Given the description of an element on the screen output the (x, y) to click on. 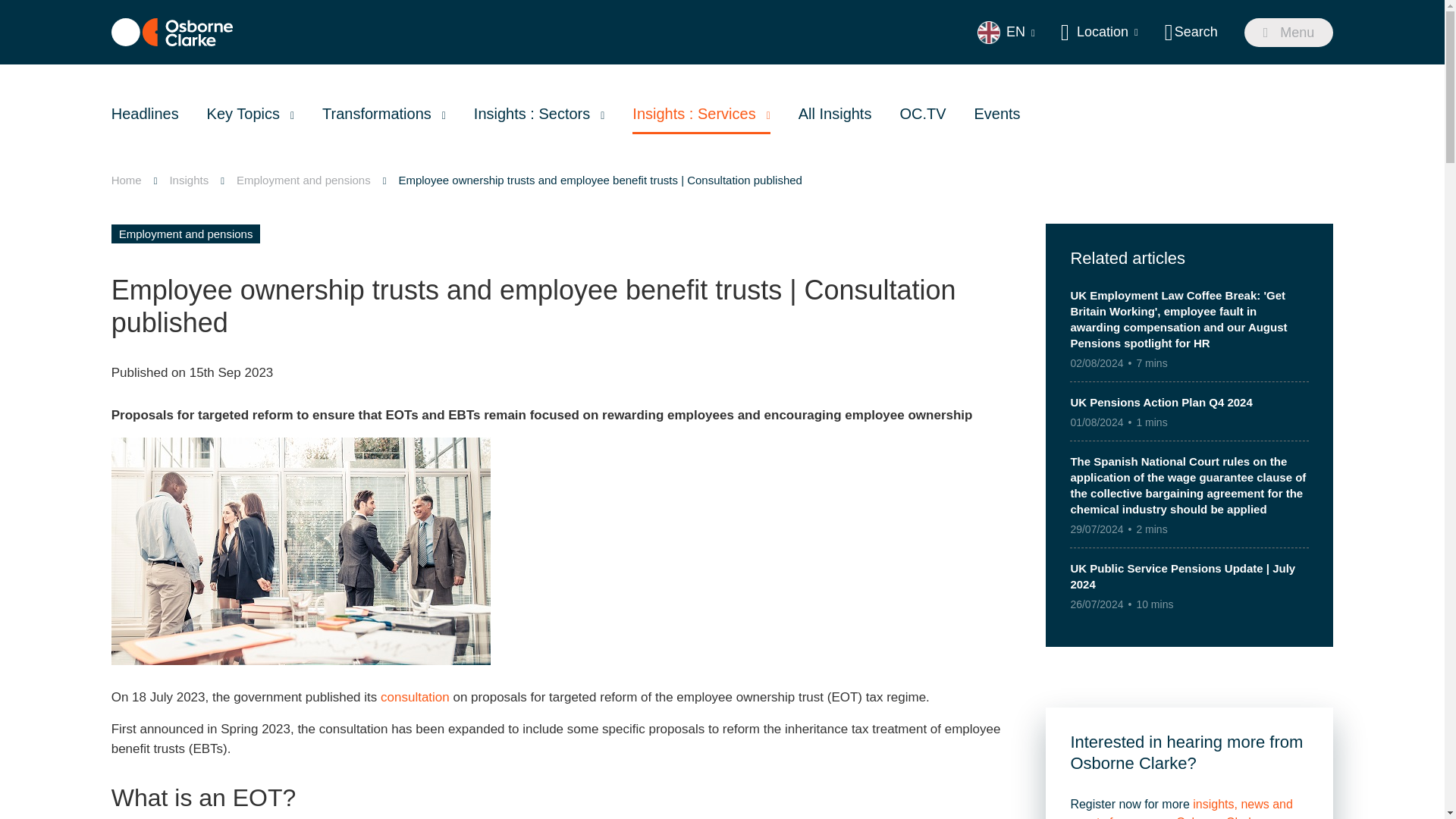
Osborne Clarke (172, 32)
Menu (1288, 32)
